Given the description of an element on the screen output the (x, y) to click on. 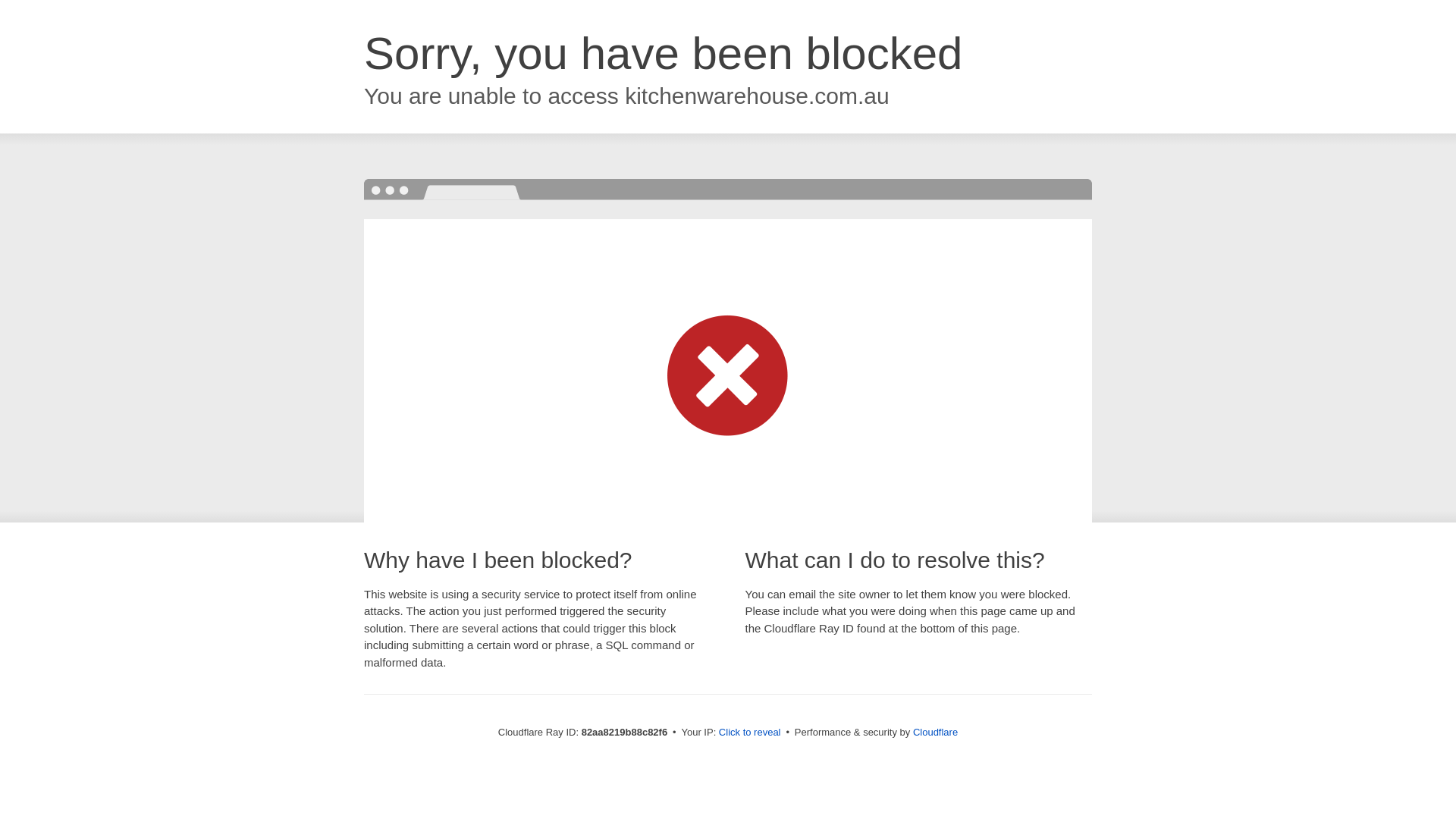
Cloudflare Element type: text (935, 731)
Click to reveal Element type: text (749, 732)
